Given the description of an element on the screen output the (x, y) to click on. 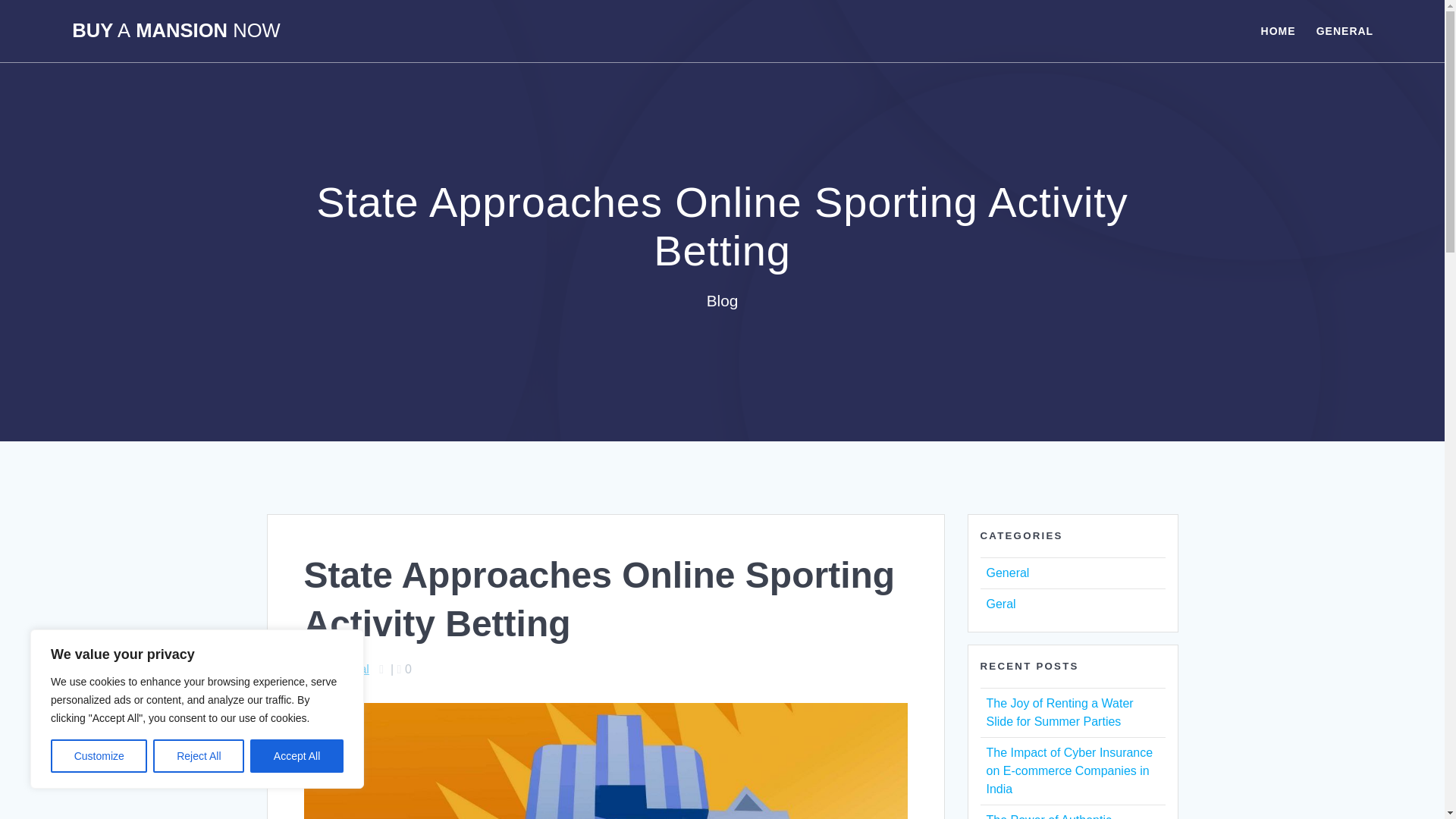
HOME (1277, 30)
General (347, 668)
Customize (98, 756)
Accept All (296, 756)
Geral (999, 603)
Reject All (198, 756)
General (1007, 572)
GENERAL (1344, 30)
The Joy of Renting a Water Slide for Summer Parties (1058, 712)
BUY A MANSION NOW (175, 30)
